Given the description of an element on the screen output the (x, y) to click on. 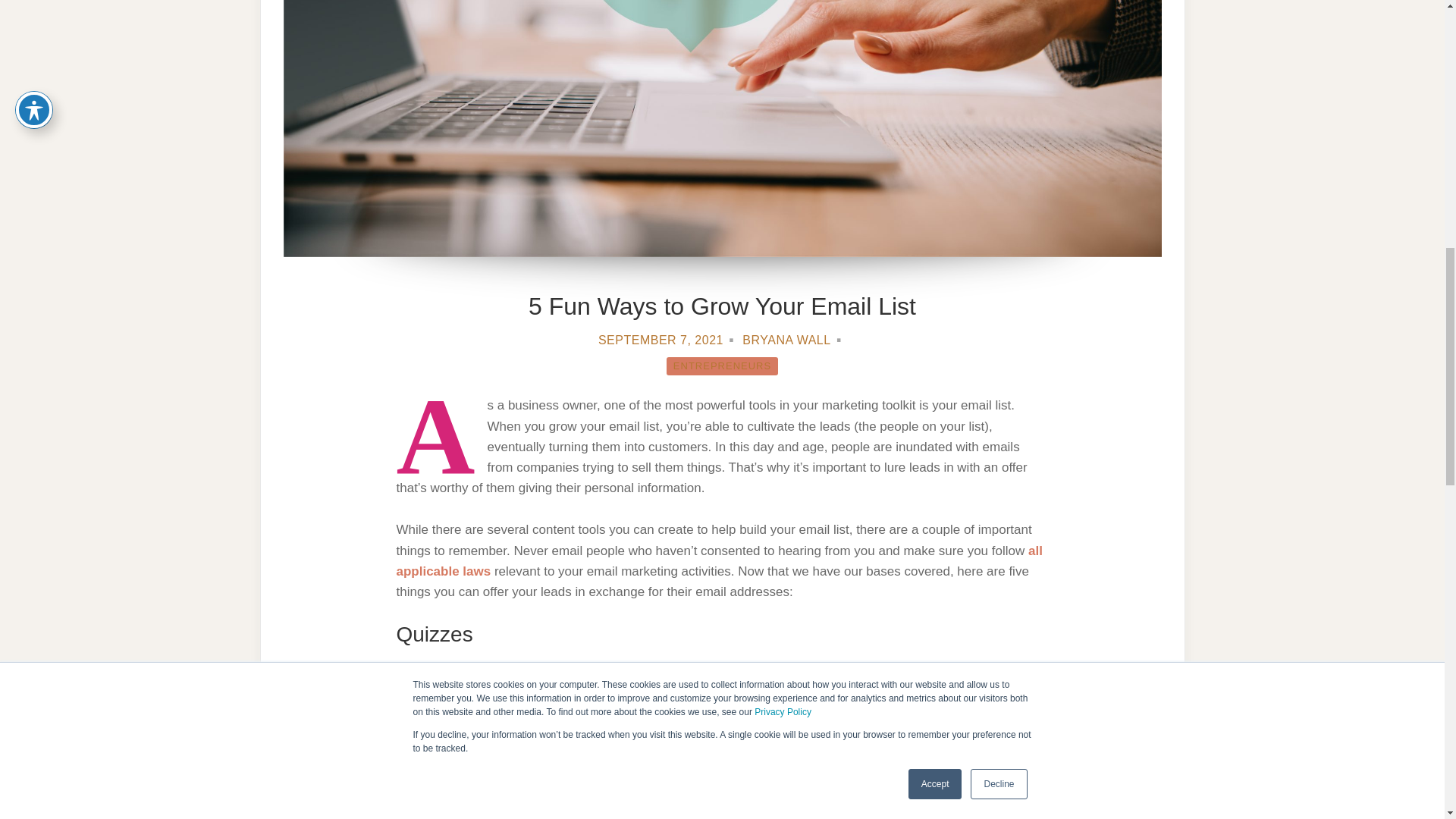
SEPTEMBER 7, 2021 (660, 339)
BRYANA WALL (785, 339)
all applicable laws (719, 560)
ENTREPRENEURS (721, 366)
easy to make (590, 668)
